Given the description of an element on the screen output the (x, y) to click on. 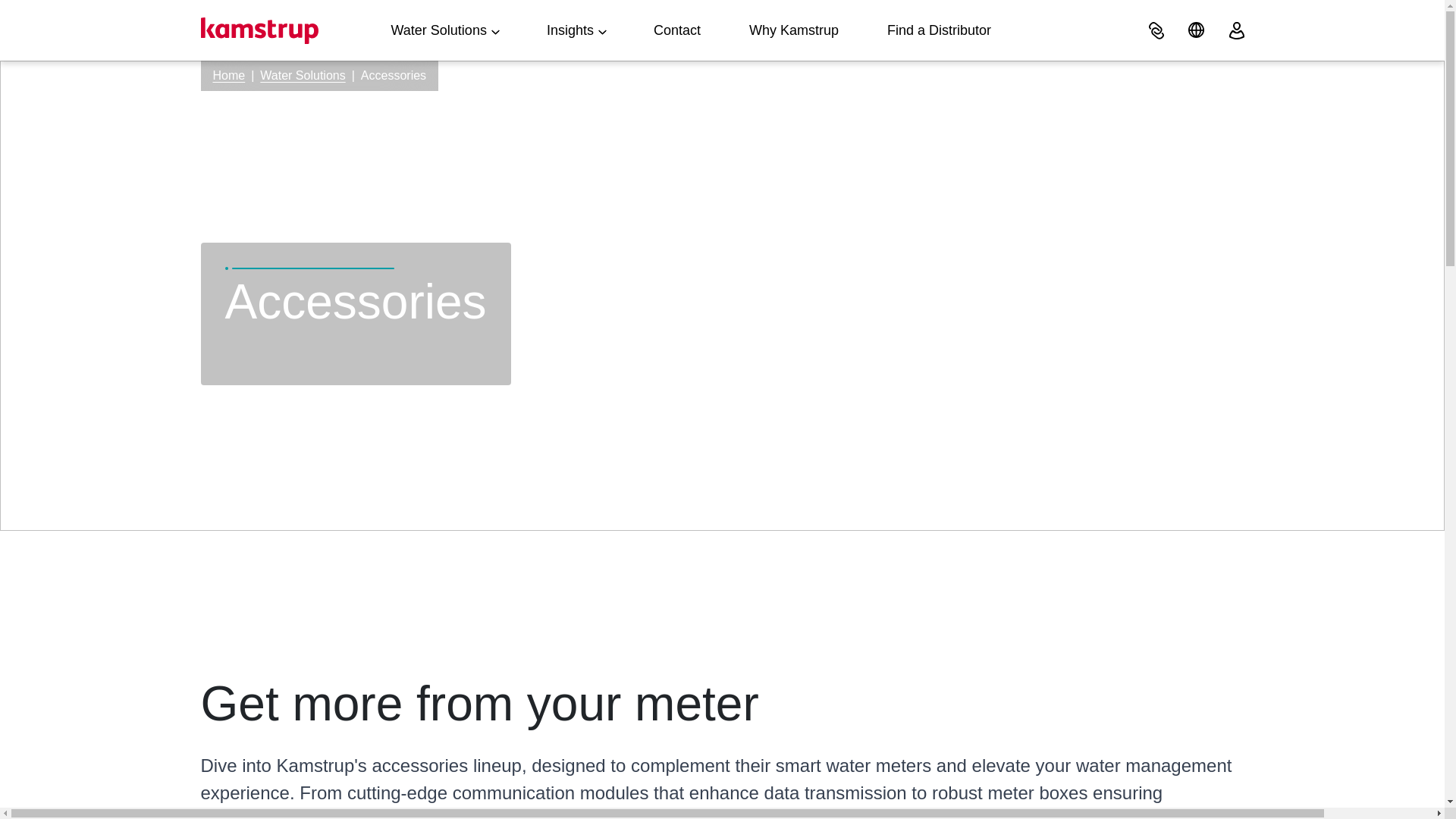
Insights (576, 30)
About Us (793, 30)
Water Solutions (302, 74)
Why Kamstrup (793, 30)
Contact Us (676, 30)
Water Solutions (444, 30)
Find a Distributor (938, 30)
MyKamstrup (1235, 30)
Home (228, 74)
Find a Distributor (938, 30)
Contact (676, 30)
